Given the description of an element on the screen output the (x, y) to click on. 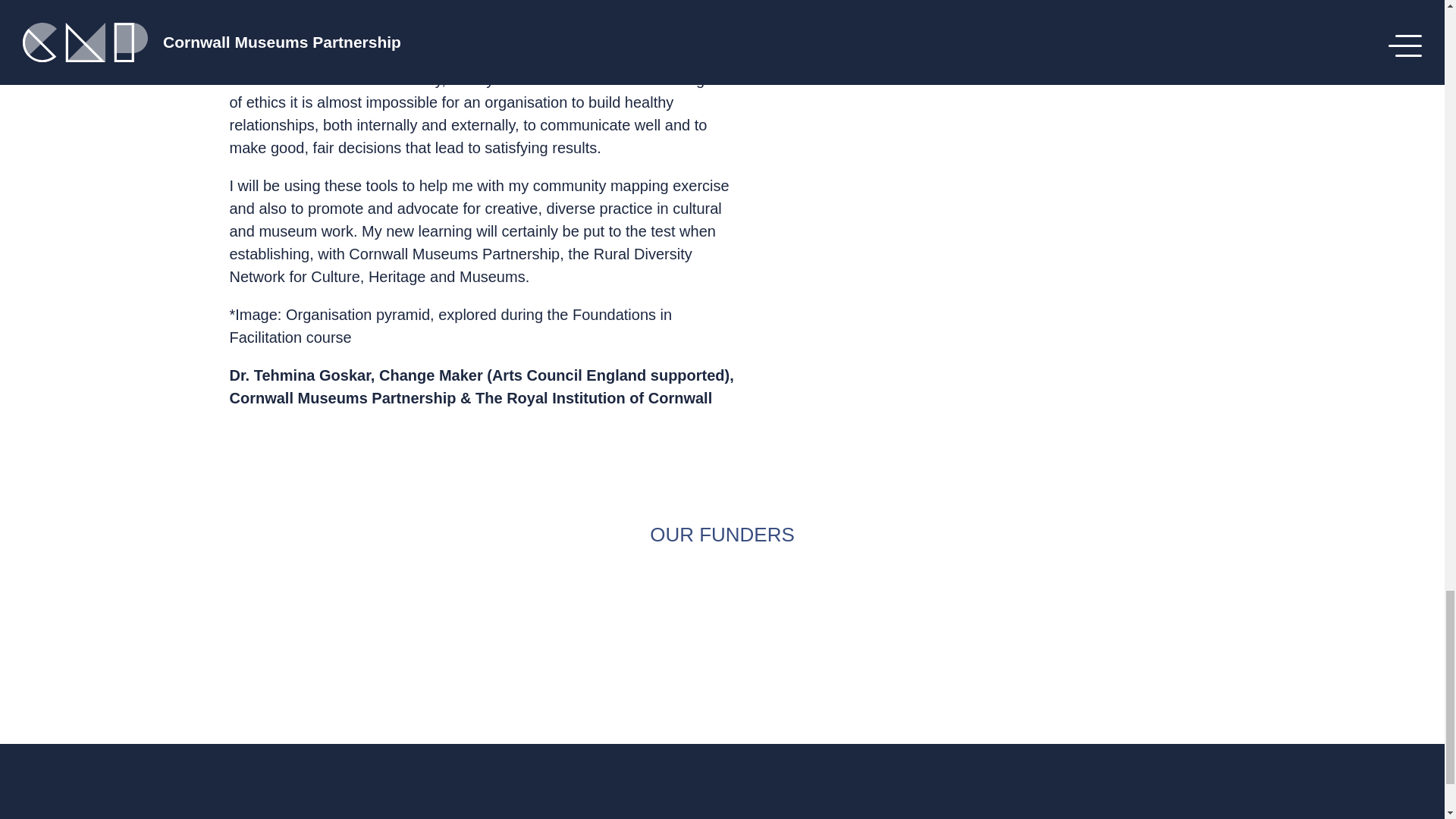
Arts Council England (521, 648)
The National Lottery Heritage Fund (921, 648)
Heritage Fund (320, 648)
Cornwall Council (720, 648)
FAILSPACE COMMIT (1121, 648)
